Given the description of an element on the screen output the (x, y) to click on. 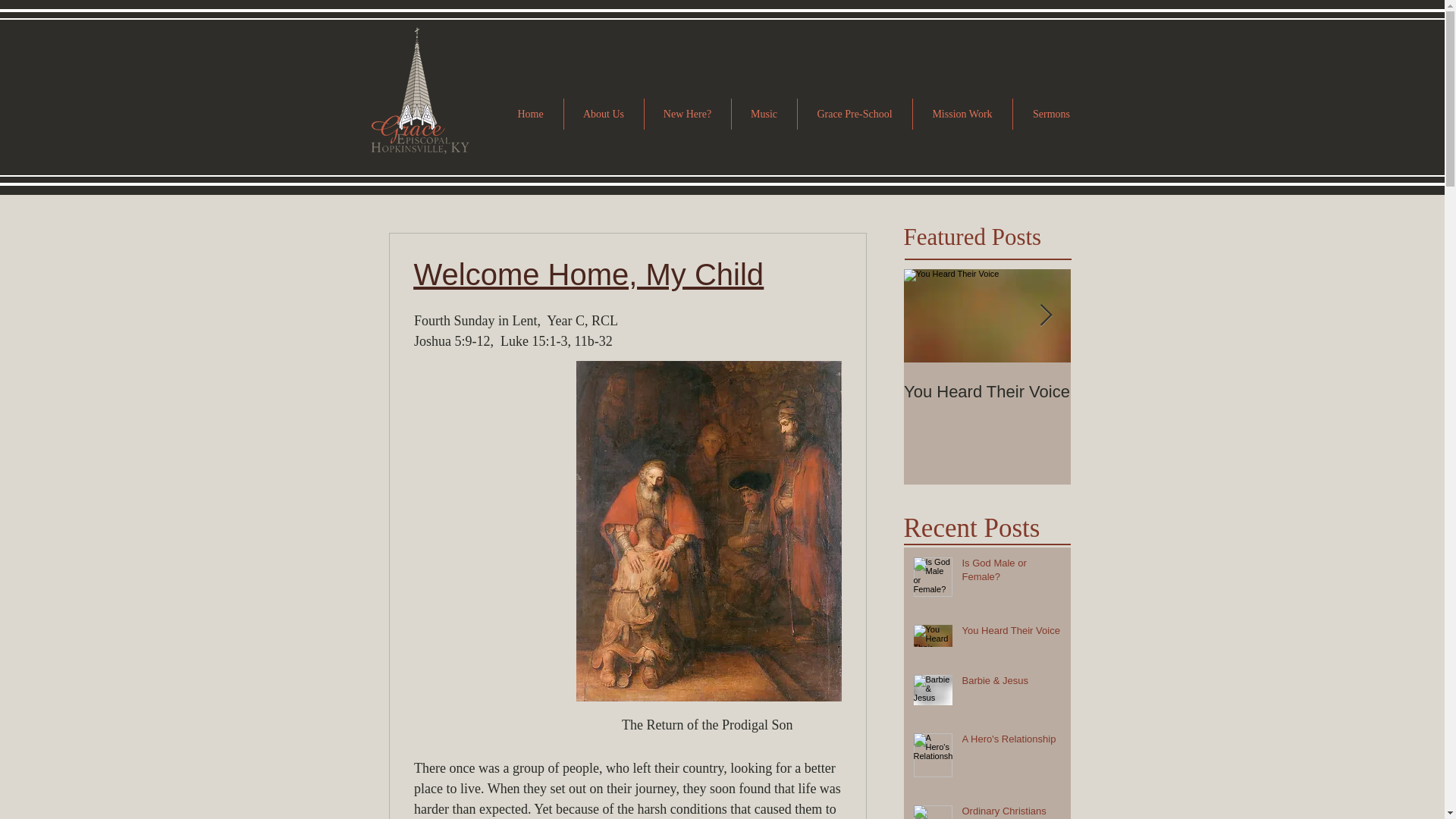
New Here? (687, 113)
Home (529, 113)
About Us (603, 113)
Music (763, 113)
Grace Pre-School (854, 113)
You Heard Their Voice (987, 392)
Ordinary Christians (1321, 392)
Sermons (1051, 113)
